Given the description of an element on the screen output the (x, y) to click on. 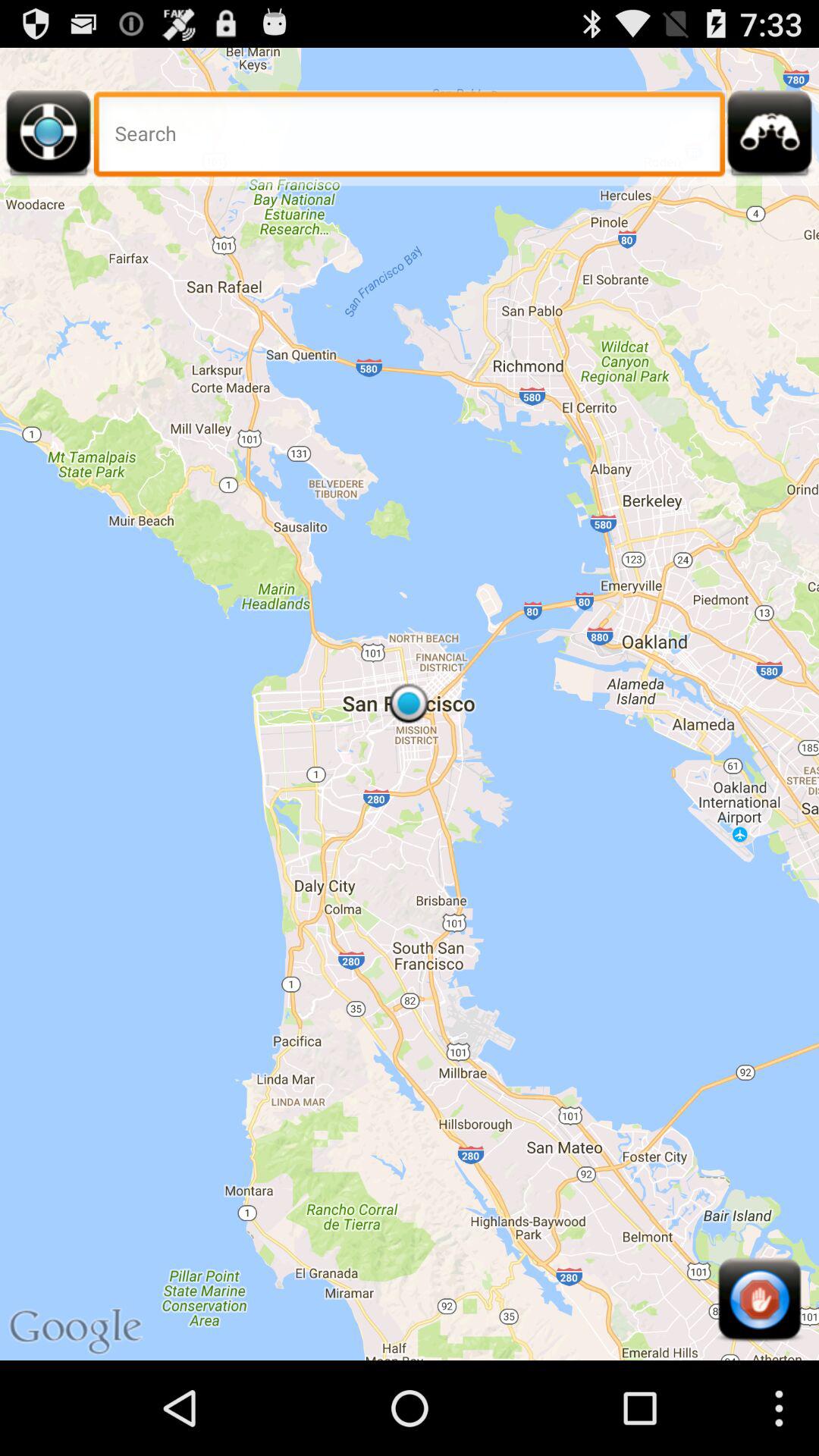
open item at the bottom right corner (759, 1300)
